Given the description of an element on the screen output the (x, y) to click on. 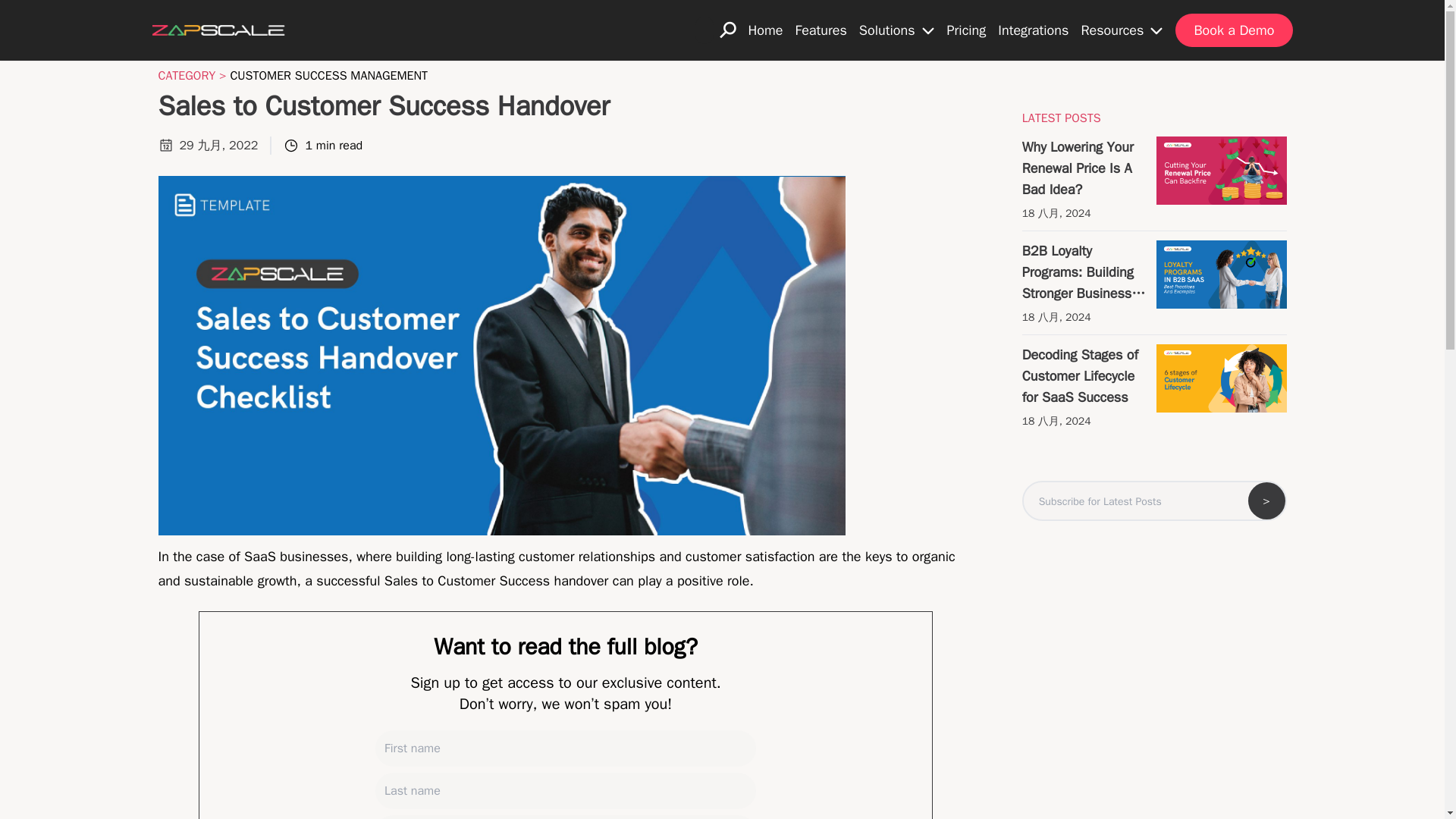
Book a Demo (1233, 29)
Resources (1121, 29)
Solutions (896, 29)
Decoding Stages of Customer Lifecycle for SaaS Success (1086, 375)
Why Lowering Your Renewal Price Is A Bad Idea? (1086, 167)
Pricing (965, 30)
Integrations (1032, 30)
Features (820, 30)
Book a Demo (1233, 30)
